Given the description of an element on the screen output the (x, y) to click on. 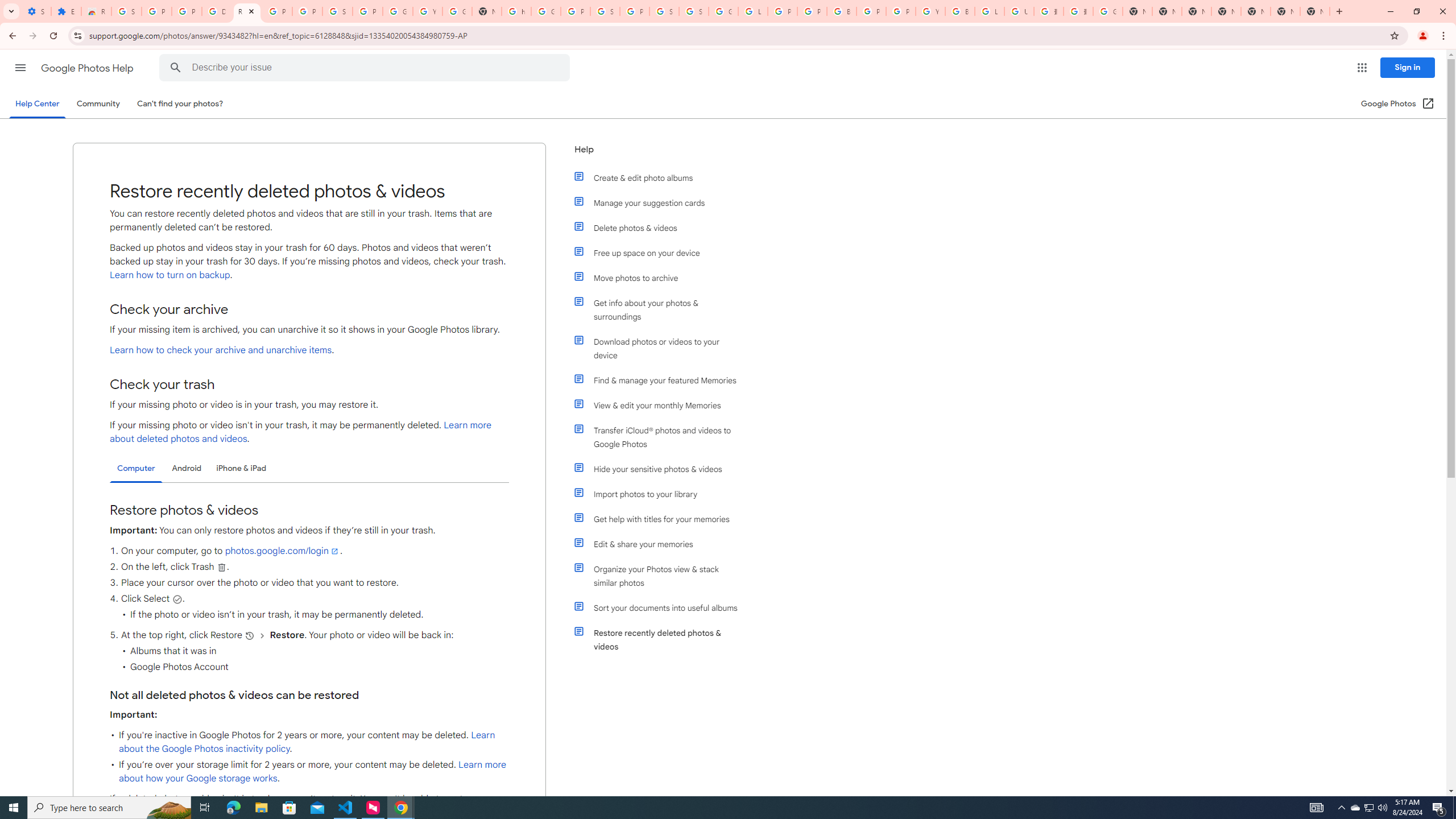
Settings - On startup (36, 11)
New Tab (1314, 11)
Community (97, 103)
Create & edit photo albums (661, 177)
Learn about the Google Photos inactivity policy (307, 742)
Delete photos & videos - Computer - Google Photos Help (216, 11)
Help Center (36, 103)
Edit & share your memories (661, 543)
